Given the description of an element on the screen output the (x, y) to click on. 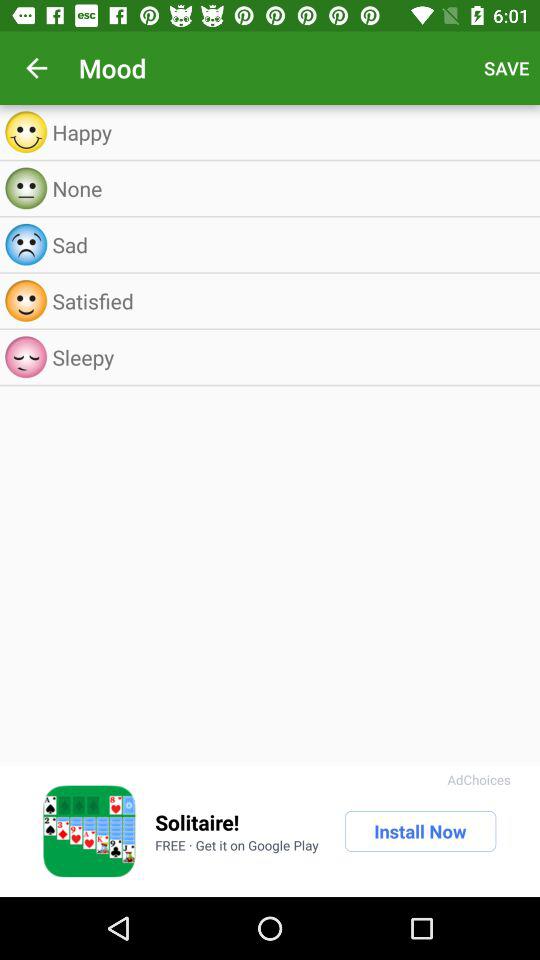
go to pictures (89, 831)
